Given the description of an element on the screen output the (x, y) to click on. 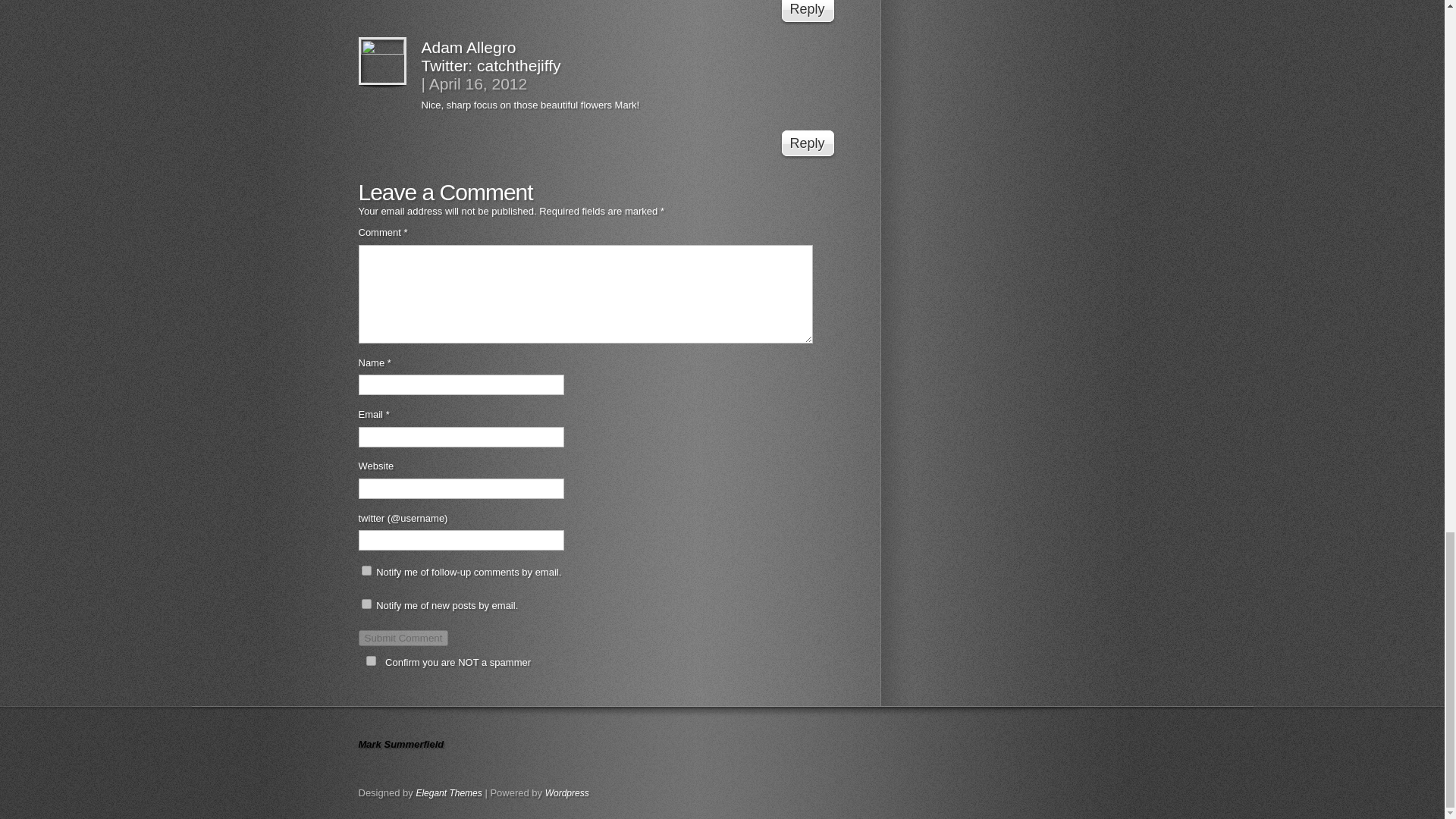
on (370, 660)
subscribe (366, 603)
subscribe (366, 570)
Submit Comment (403, 637)
Elegant Themes (447, 792)
